Given the description of an element on the screen output the (x, y) to click on. 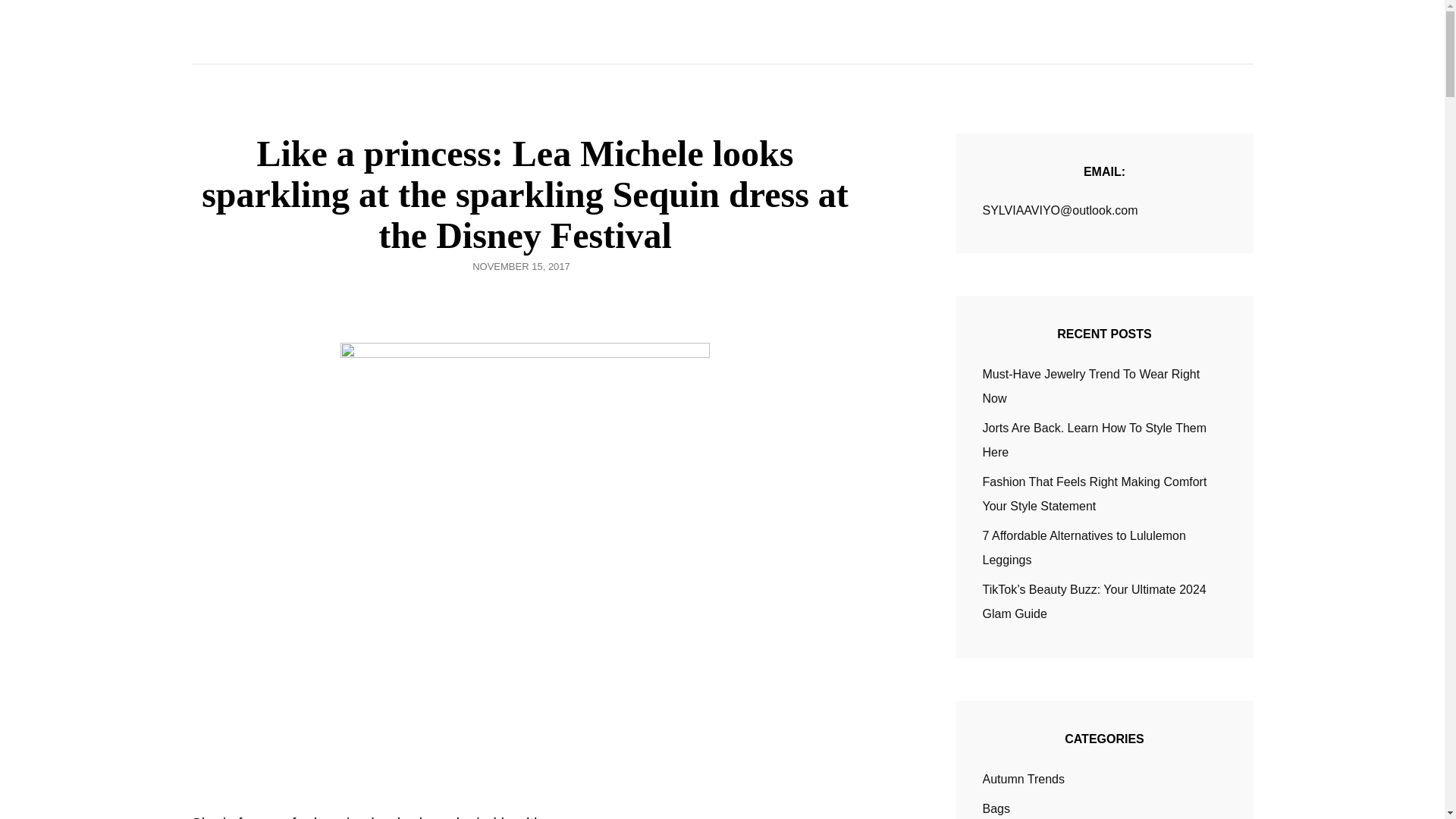
Must-Have Jewelry Trend To Wear Right Now (1090, 385)
Bags (996, 807)
Fashion That Feels Right Making Comfort Your Style Statement (1094, 493)
7 Affordable Alternatives to Lululemon Leggings (1084, 547)
NOVEMBER 15, 2017 (520, 266)
Jorts Are Back. Learn How To Style Them Here (1094, 439)
Autumn Trends (1023, 779)
